Given the description of an element on the screen output the (x, y) to click on. 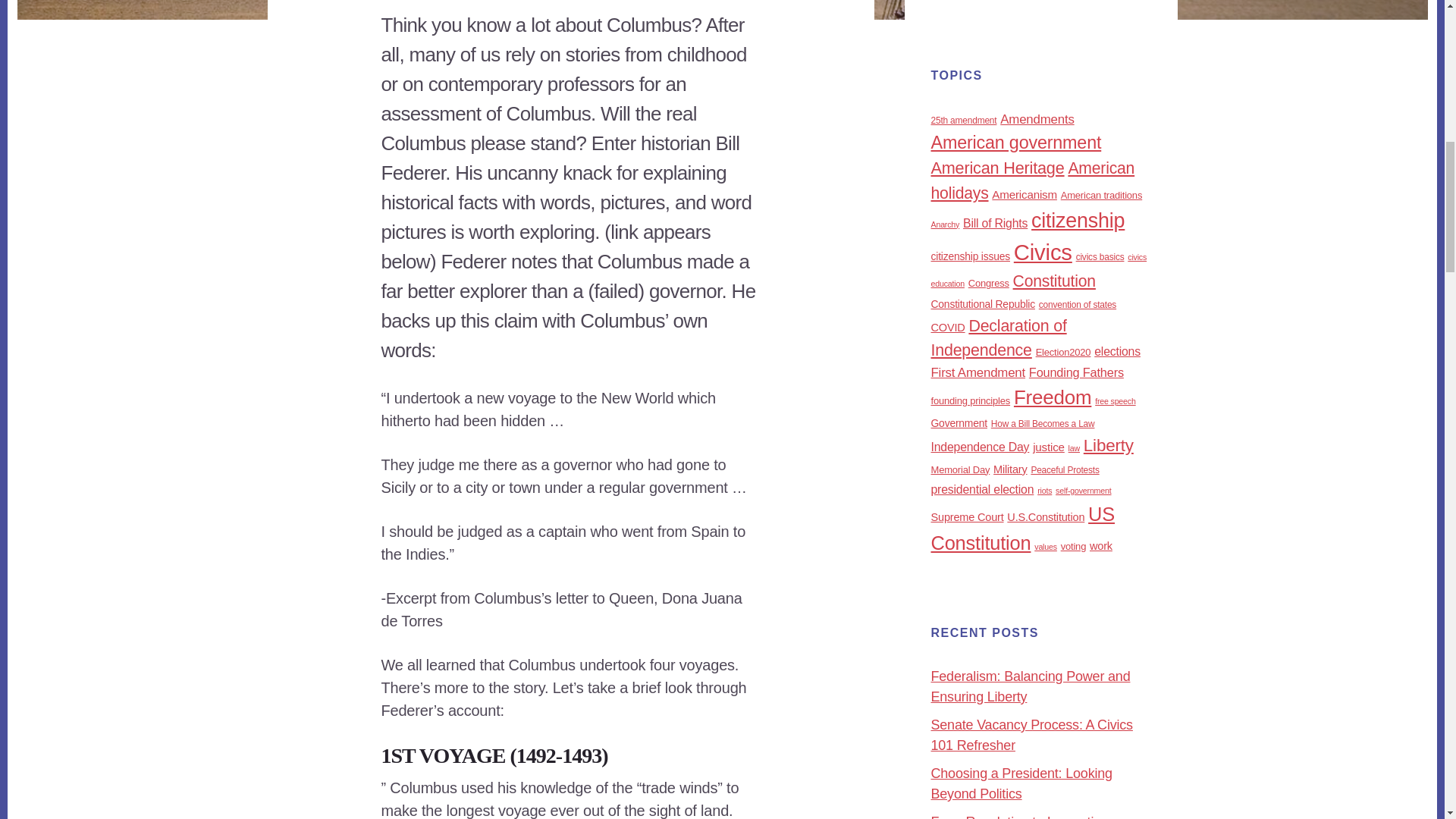
American Heritage (997, 167)
Anarchy (945, 224)
25th amendment (964, 120)
American holidays (1033, 179)
Amendments (1037, 119)
American government (1016, 142)
Americanism (1024, 194)
Congress (988, 283)
Civics (1042, 251)
citizenship (1077, 220)
civics basics (1099, 256)
citizenship issues (970, 256)
Bill of Rights (994, 223)
civics education (1039, 270)
American traditions (1101, 194)
